Given the description of an element on the screen output the (x, y) to click on. 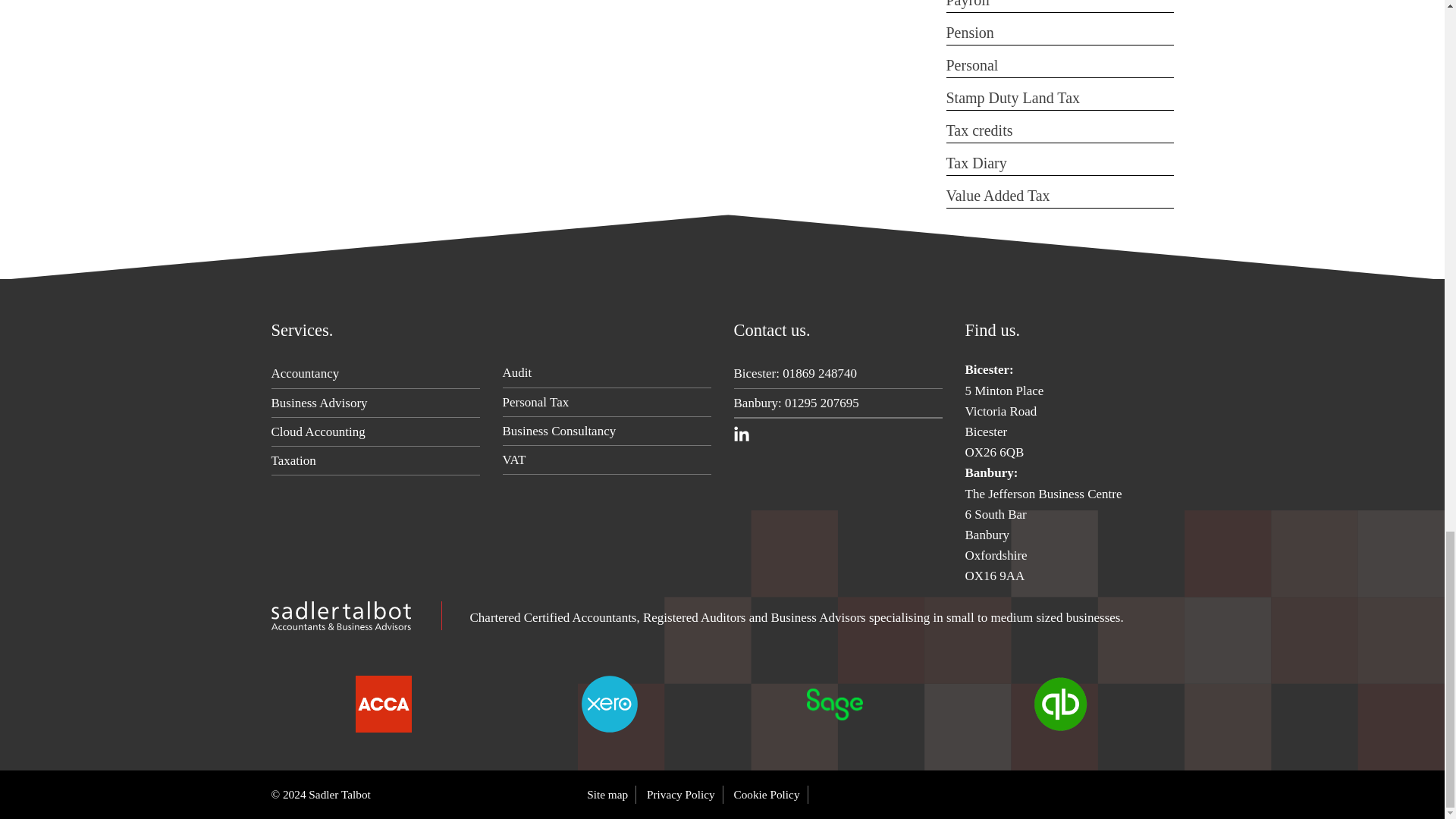
Payroll (968, 4)
